Given the description of an element on the screen output the (x, y) to click on. 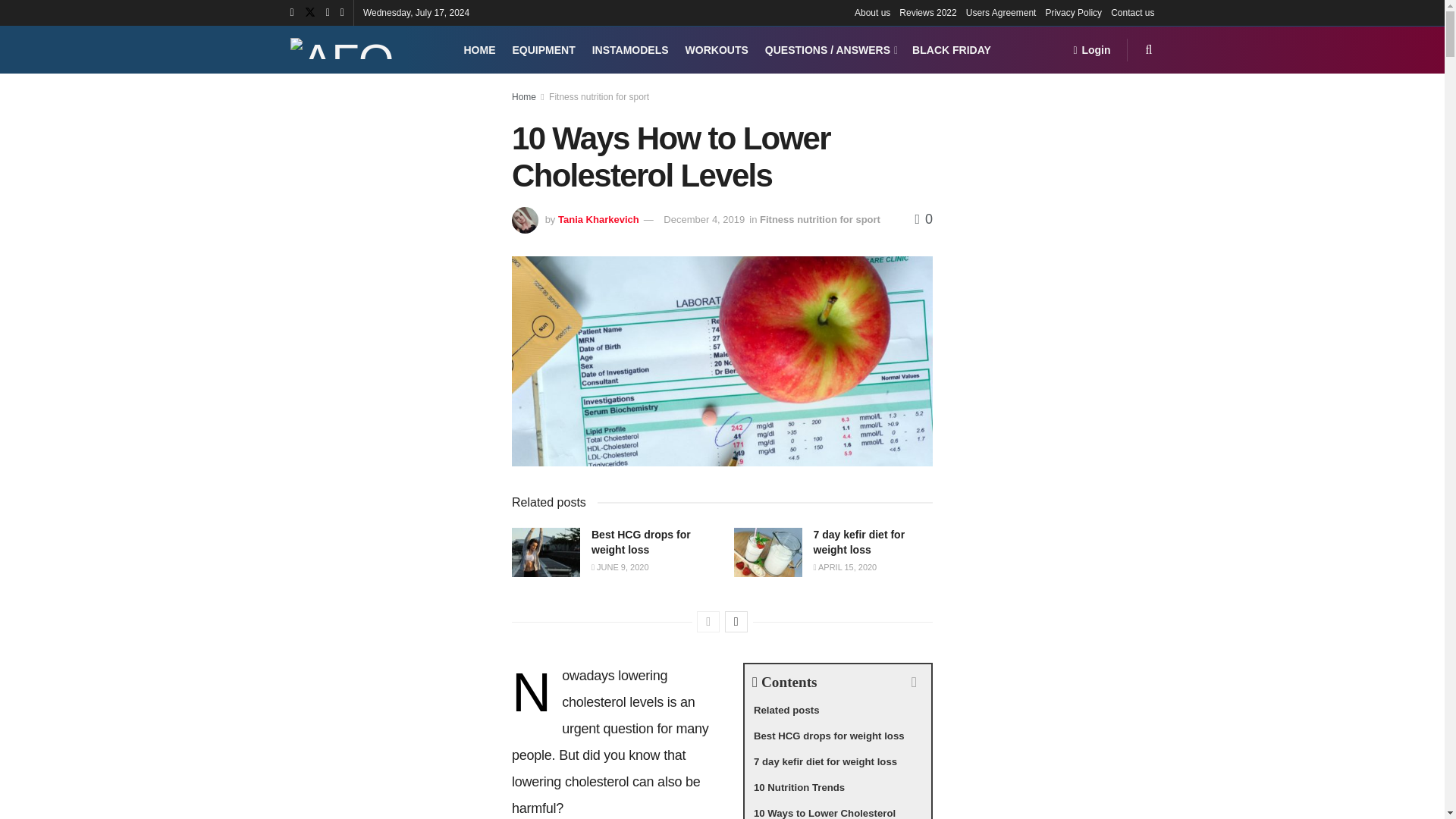
Tania Kharkevich (598, 219)
December 4, 2019 (703, 219)
WORKOUTS (716, 49)
Best HCG drops for weight loss (640, 542)
Contact us (1132, 12)
HOME (480, 49)
Reviews 2022 (927, 12)
APRIL 15, 2020 (844, 566)
INSTAMODELS (630, 49)
Fitness nutrition for sport (598, 96)
Privacy Policy (1073, 12)
Previous (708, 621)
Next (736, 621)
Users Agreement (1001, 12)
Login (1091, 49)
